Given the description of an element on the screen output the (x, y) to click on. 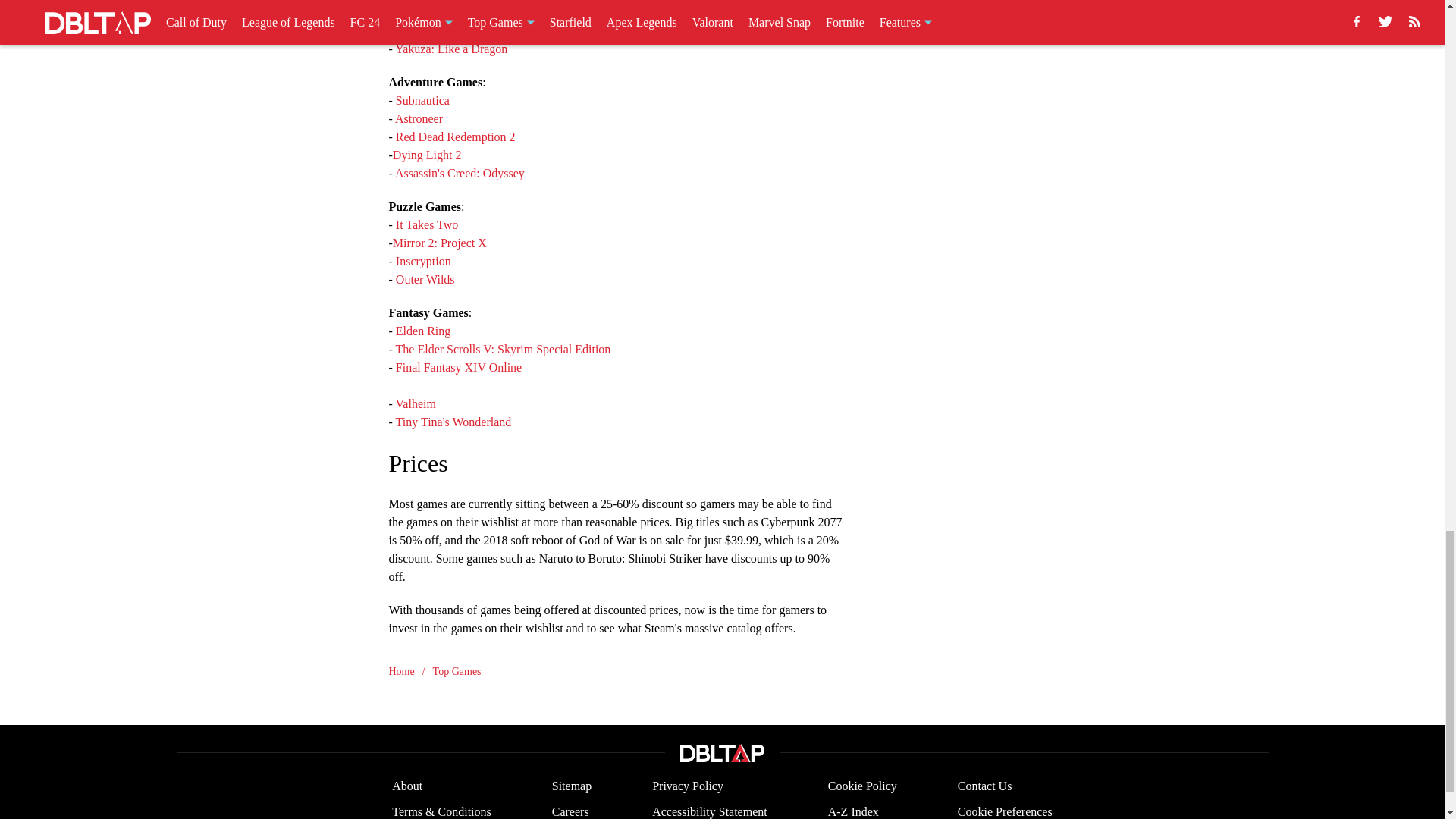
Halo: The Master Chief Collection (478, 11)
The Outerworlds (437, 29)
Subnautica (422, 99)
Yakuza: Like a Dragon (450, 47)
